Given the description of an element on the screen output the (x, y) to click on. 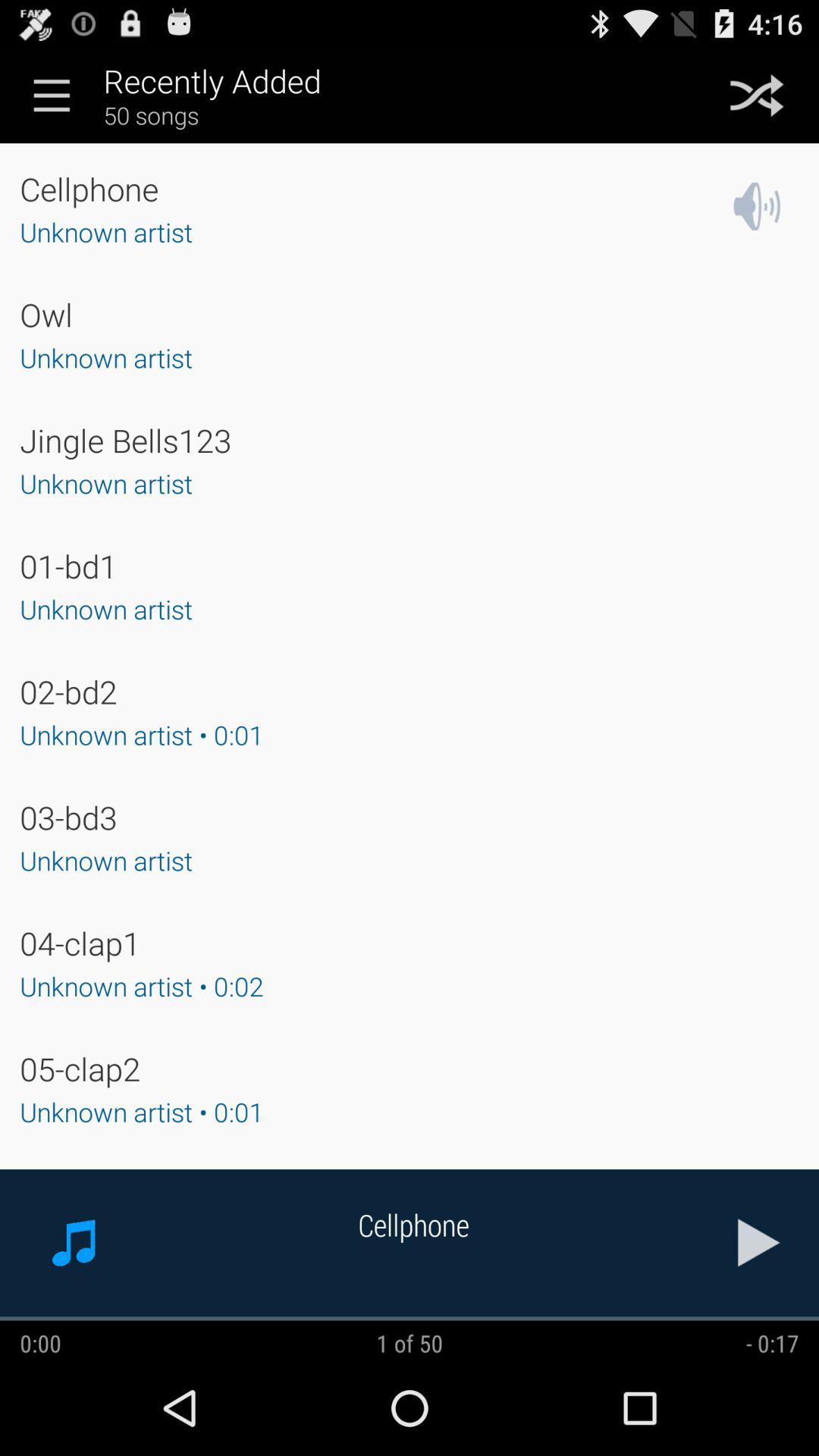
open the icon to the right of unknown artist (756, 206)
